Given the description of an element on the screen output the (x, y) to click on. 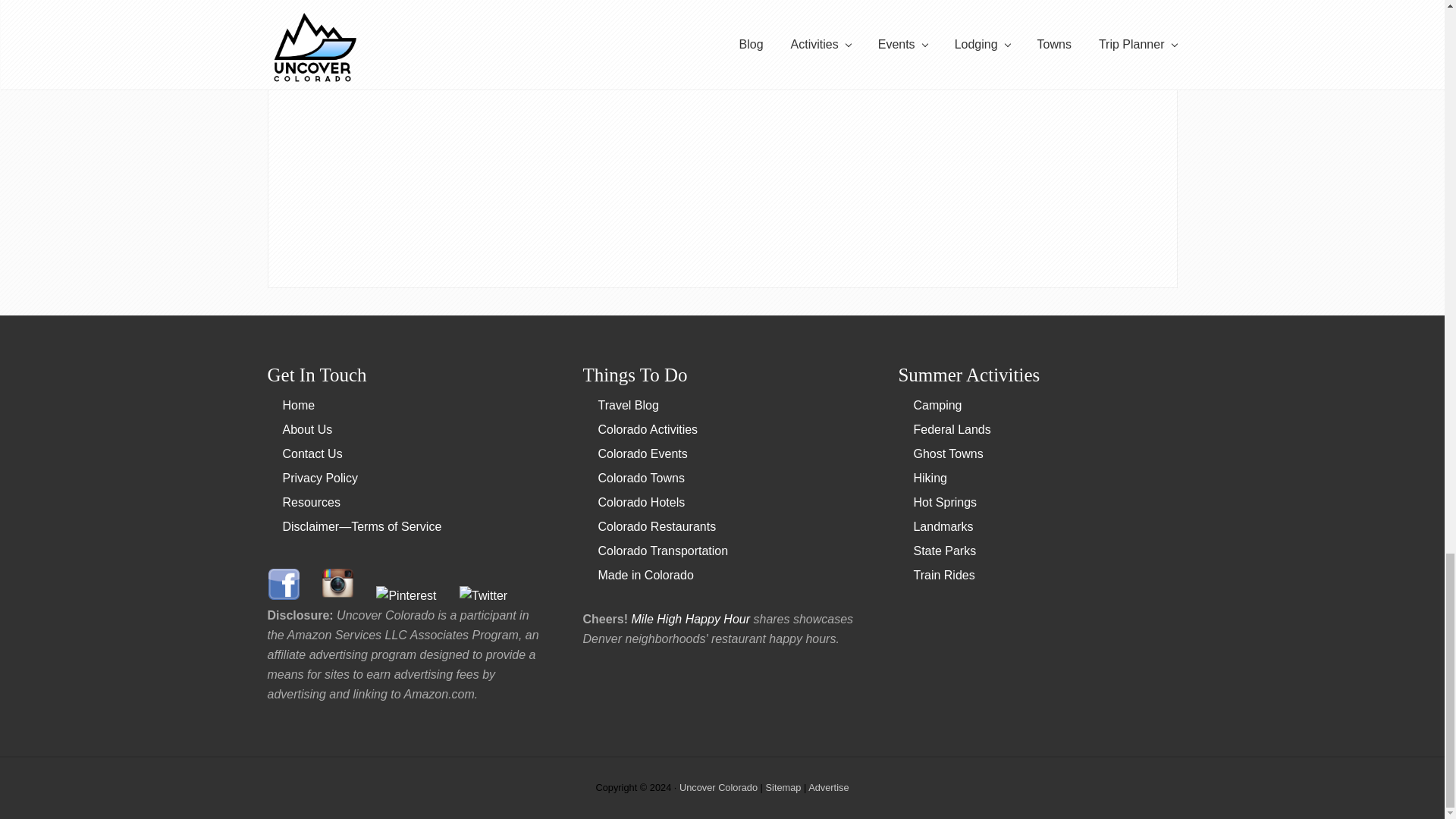
Colorado Travel Guide (298, 404)
About Uncover Colorado (306, 429)
